Given the description of an element on the screen output the (x, y) to click on. 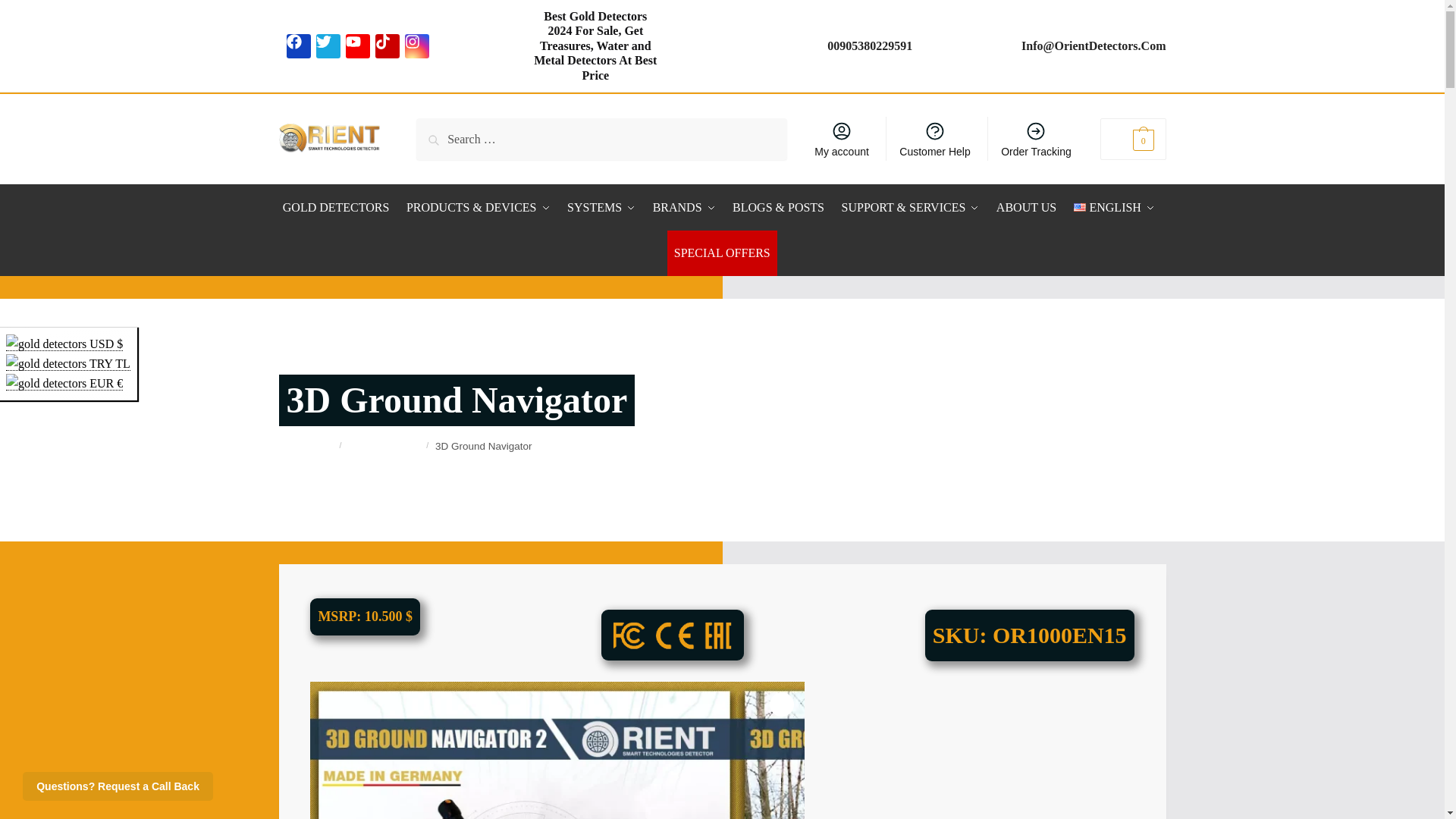
GROUND-NAVIGATOR-device (523, 750)
BRANDS (684, 207)
GROUND-NAVIGATOR-2-prospectors (948, 750)
Search (451, 135)
Search (451, 135)
Order Tracking (1035, 138)
My account (841, 138)
GOLD DETECTORS (339, 207)
Customer Help (934, 138)
SYSTEMS (601, 207)
